Given the description of an element on the screen output the (x, y) to click on. 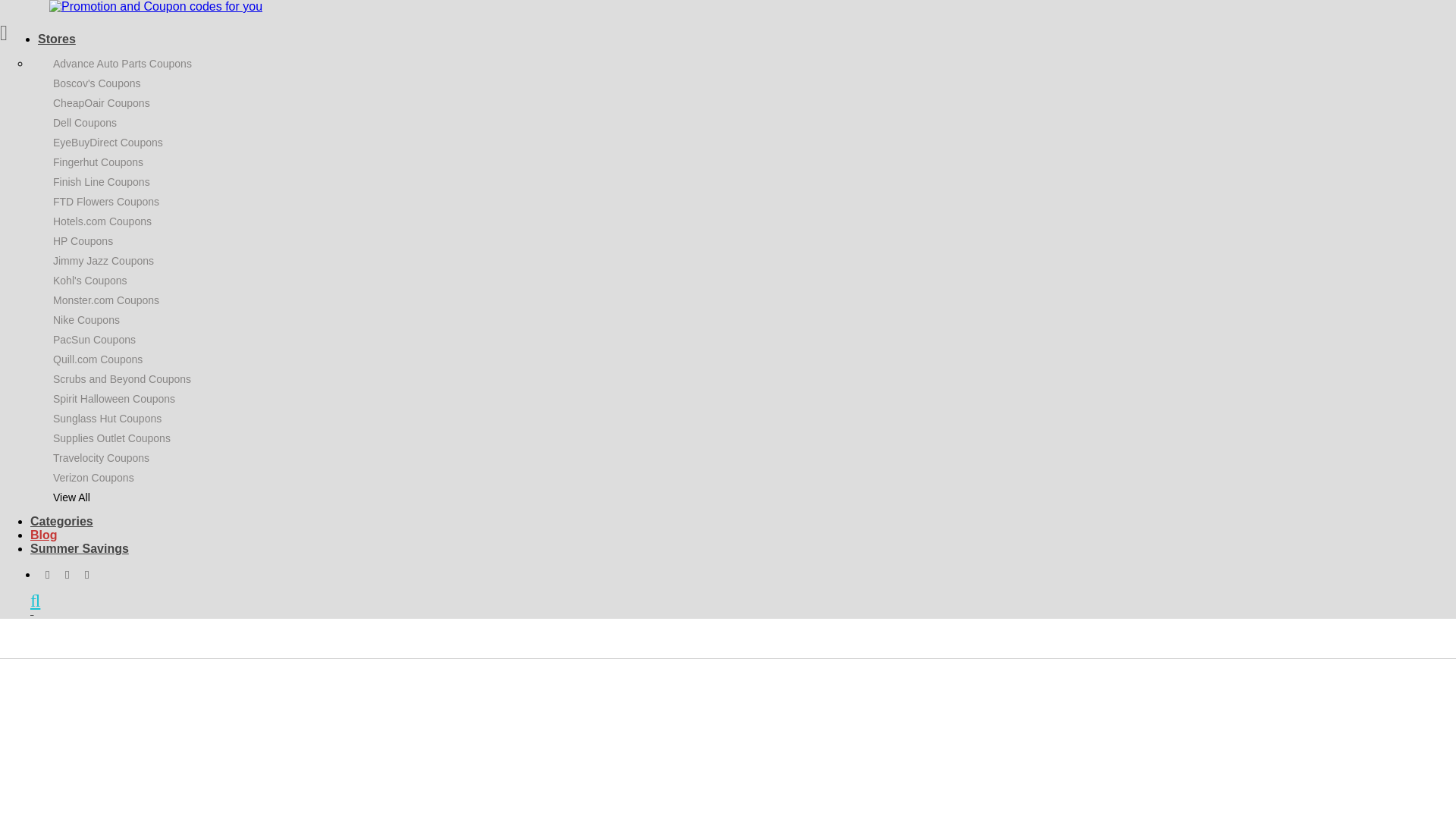
FTD Flowers Coupons (105, 201)
Dell Coupons (84, 122)
Scrubs and Beyond Coupons (121, 378)
Supplies Outlet Coupons (111, 438)
Kohl's Coupons (90, 280)
EyeBuyDirect Coupons (107, 142)
Monster.com Coupons (105, 300)
Verizon Coupons (92, 477)
Blog (44, 535)
Travelocity Coupons (100, 458)
Boscov's Coupons (96, 82)
Fingerhut Coupons (97, 162)
View All (71, 497)
Spirit Halloween Coupons (113, 398)
